Given the description of an element on the screen output the (x, y) to click on. 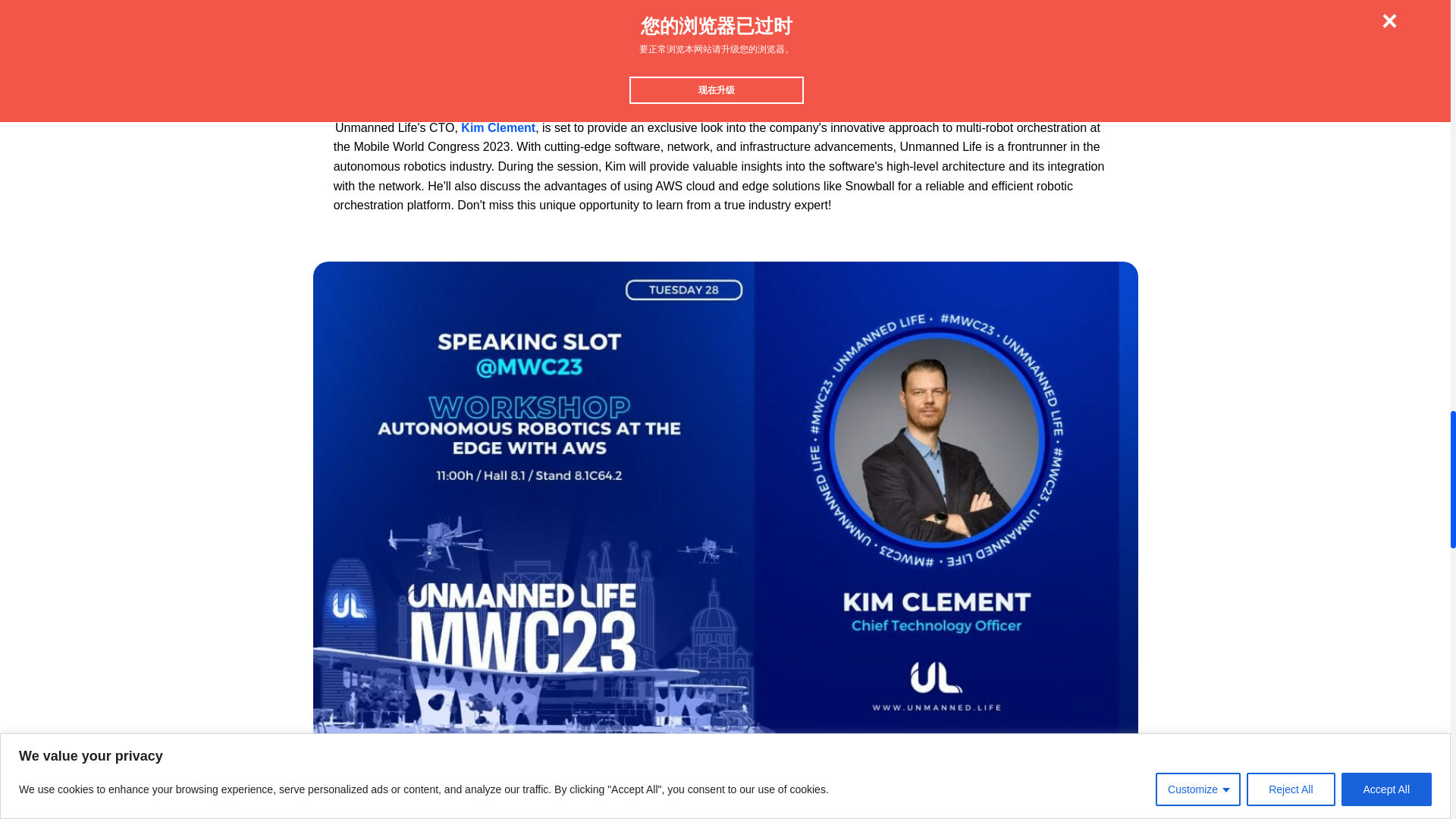
Kim Clement (498, 127)
Kim Clement (422, 9)
